Given the description of an element on the screen output the (x, y) to click on. 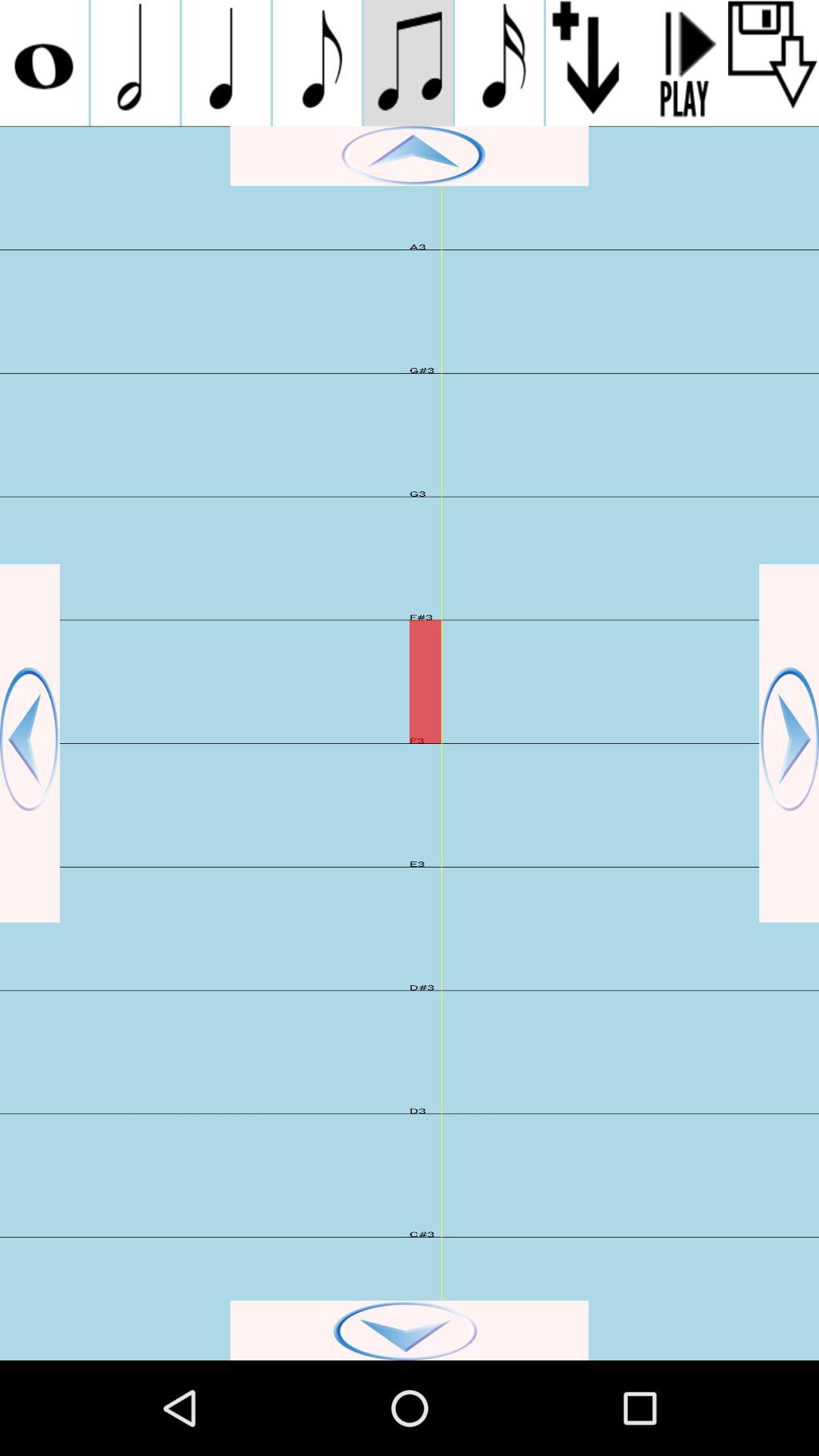
scroll to the right (789, 742)
